Given the description of an element on the screen output the (x, y) to click on. 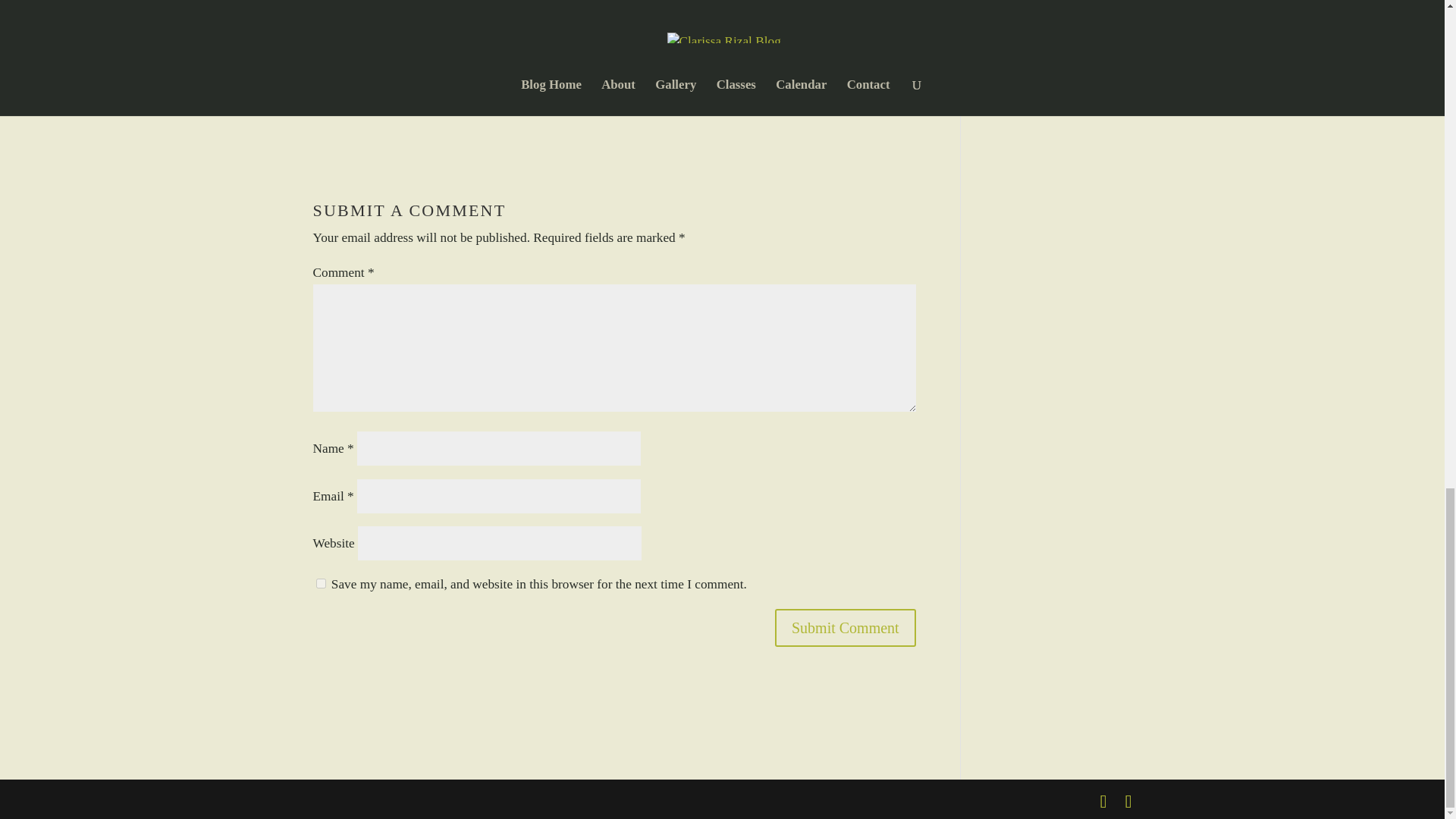
yes (319, 583)
Submit Comment (844, 628)
Submit Comment (844, 628)
